Given the description of an element on the screen output the (x, y) to click on. 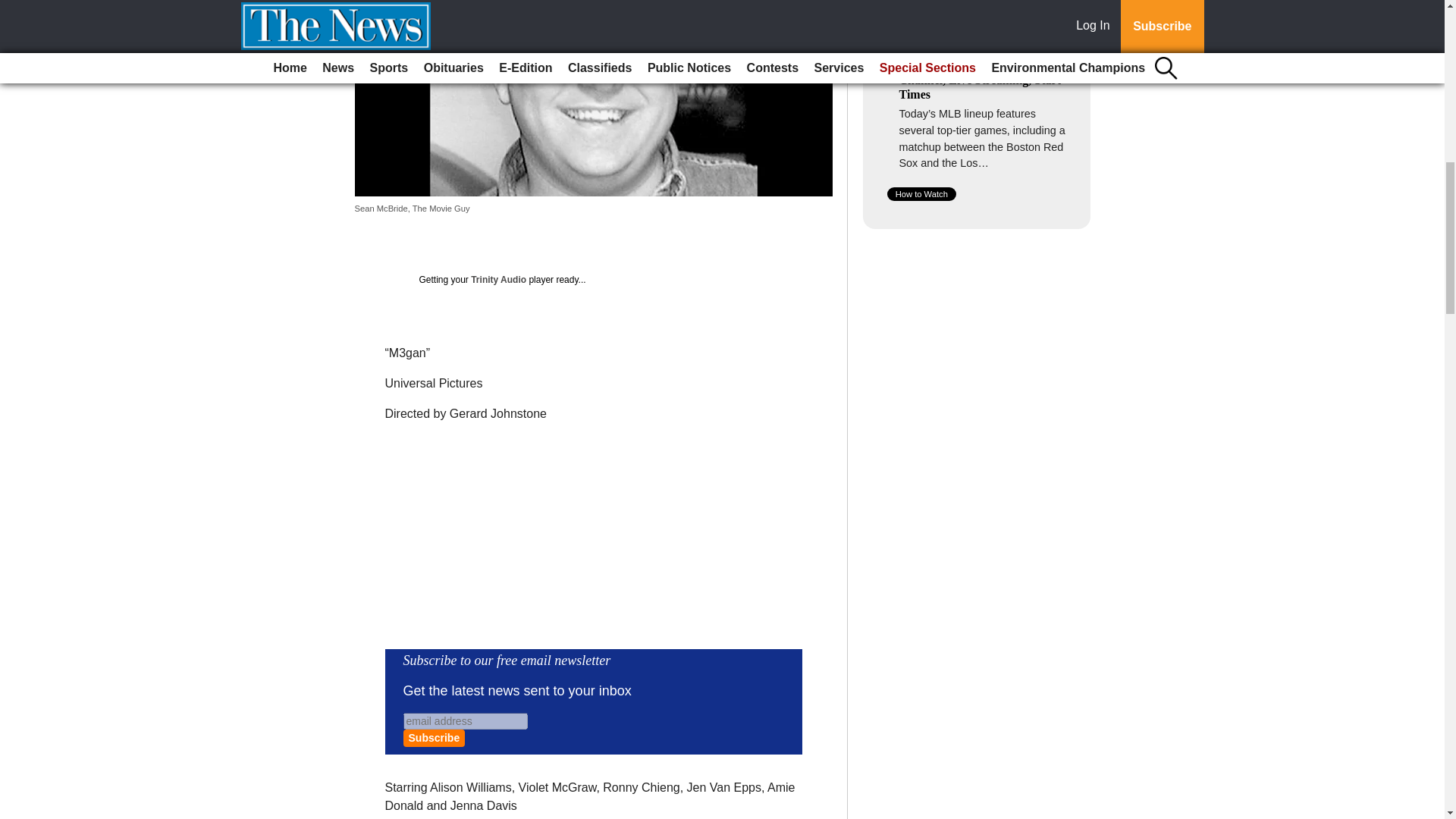
Subscribe (434, 737)
Subscribe (434, 737)
Trinity Audio (497, 279)
